Given the description of an element on the screen output the (x, y) to click on. 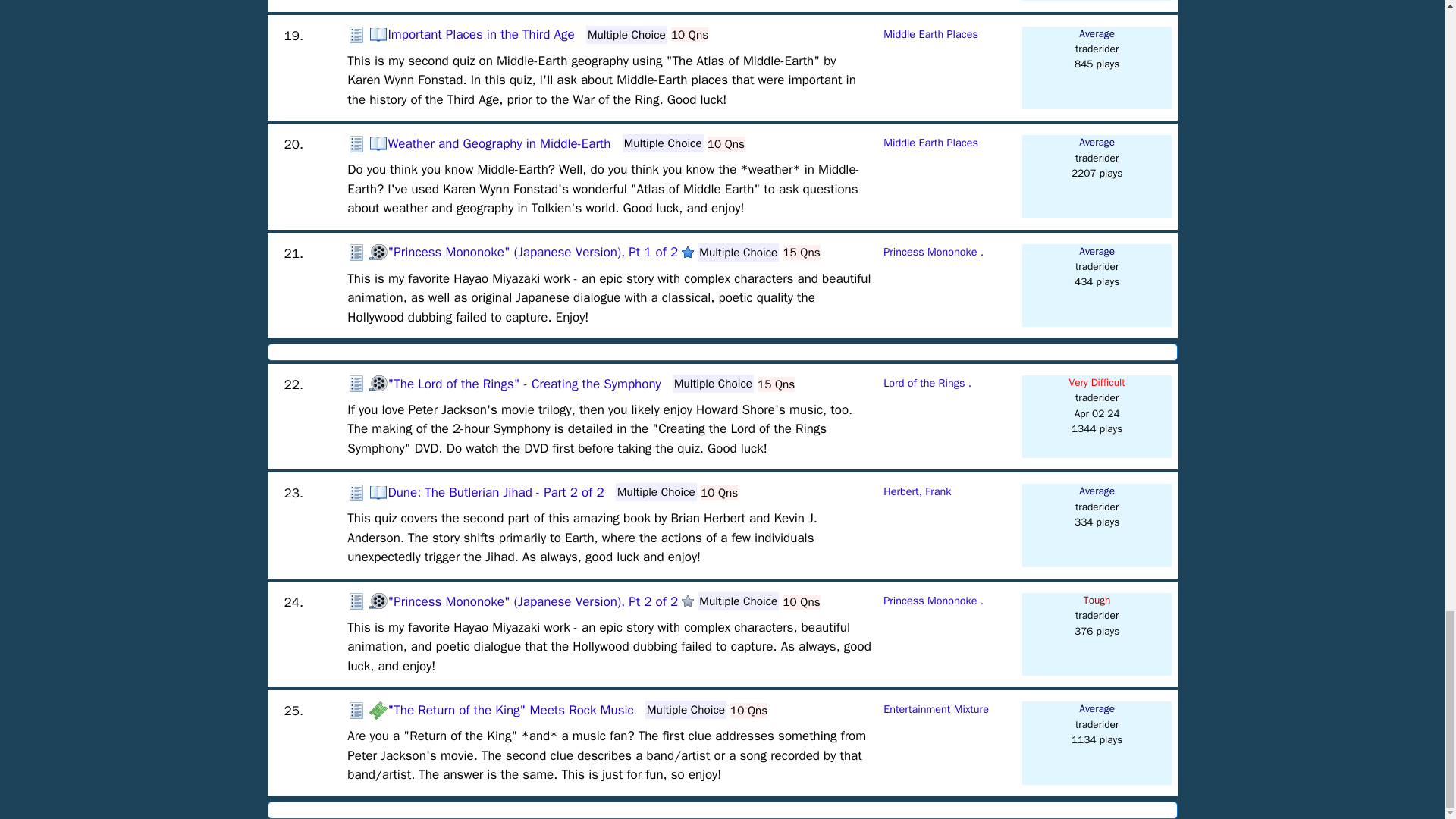
A well rated quiz (687, 252)
